Given the description of an element on the screen output the (x, y) to click on. 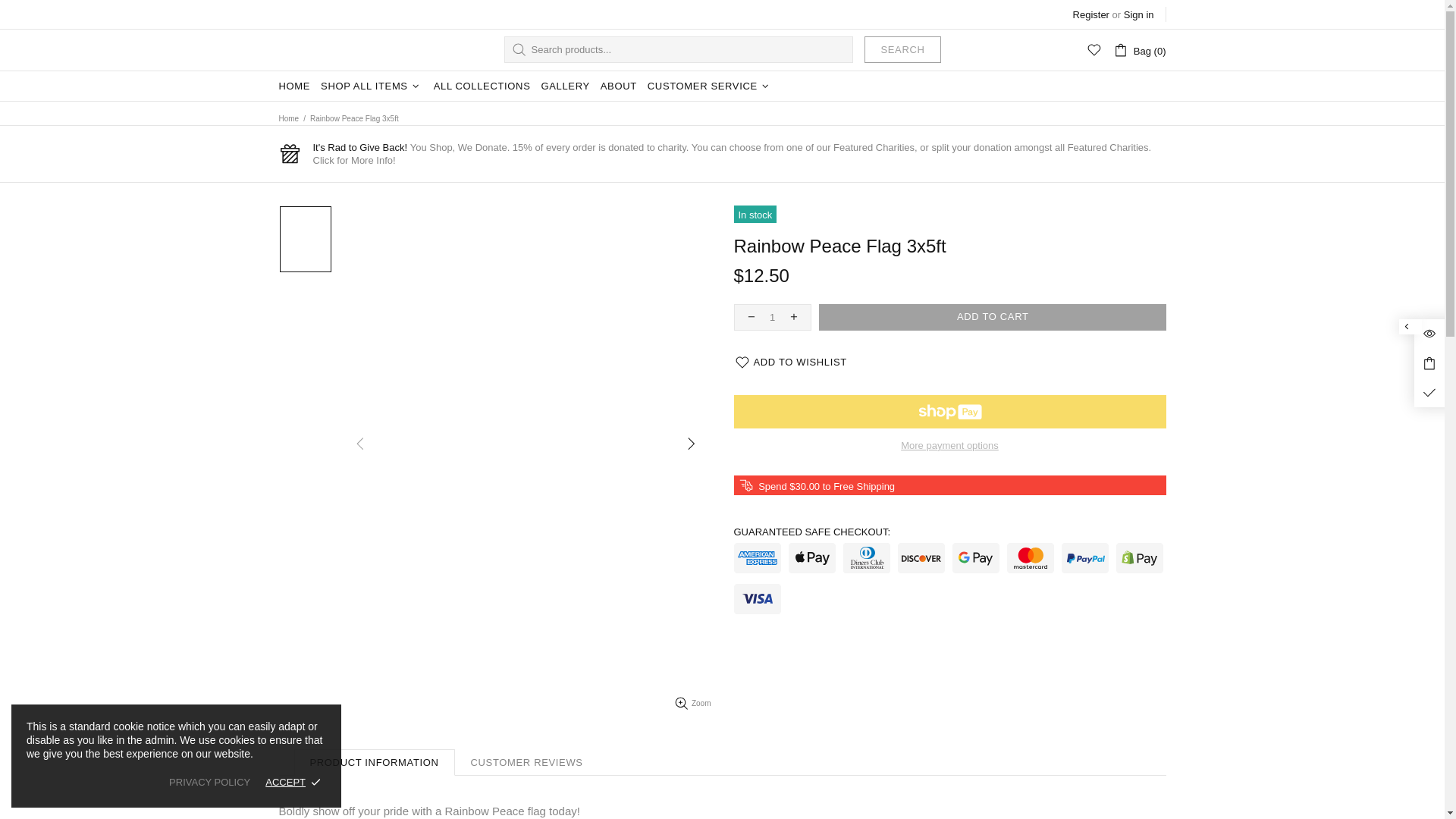
Register (1091, 13)
CUSTOMER SERVICE (709, 86)
SUBSCRIBE! (419, 621)
HOME (294, 86)
SEARCH (902, 49)
SHOP ALL ITEMS (371, 86)
1 (771, 316)
Rad Pride (323, 49)
ALL COLLECTIONS (481, 86)
Sign in (1139, 13)
